Given the description of an element on the screen output the (x, y) to click on. 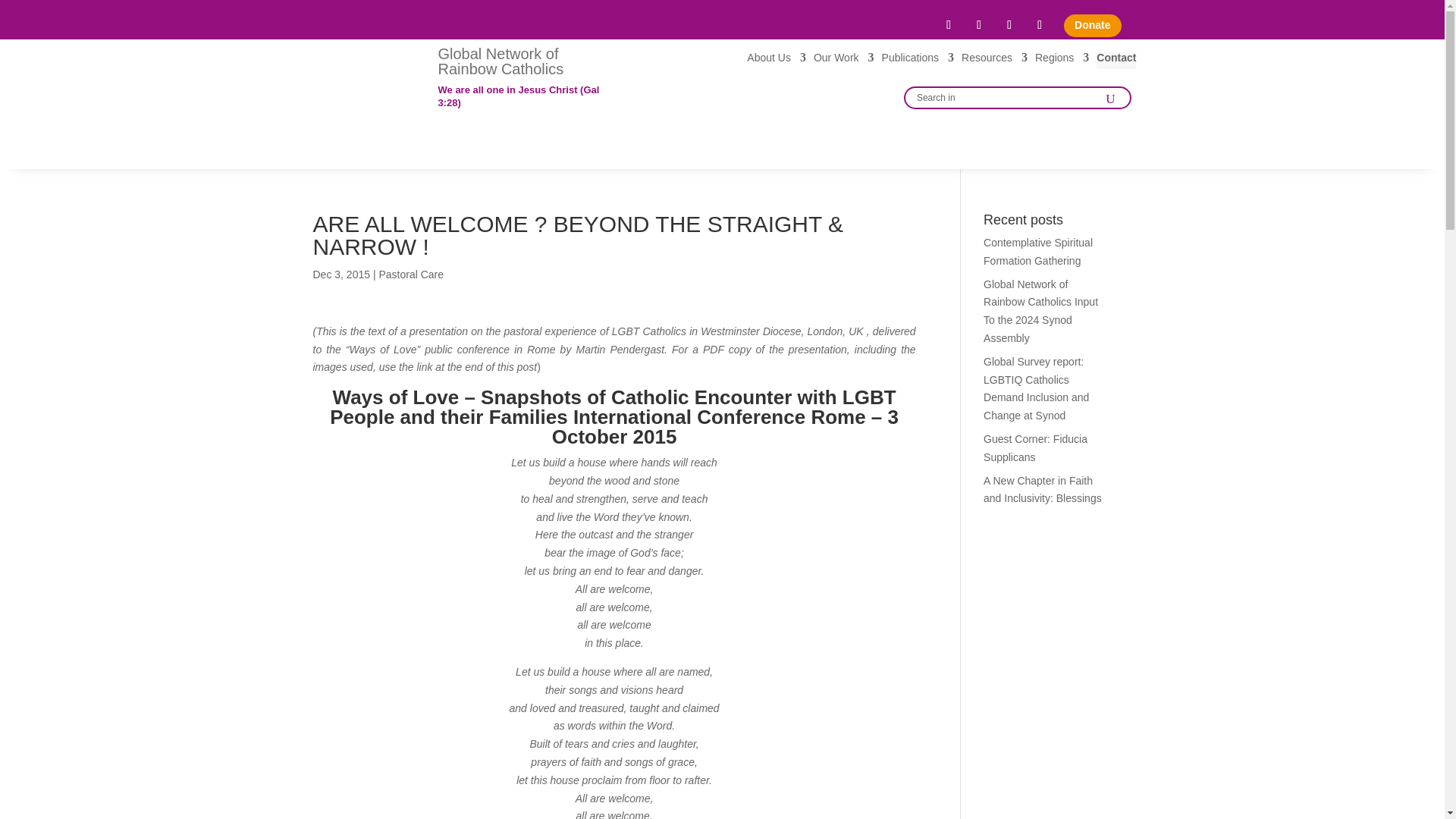
About Us (776, 60)
Contact (1115, 60)
Publications (918, 60)
Follow on Facebook (948, 24)
Regions (1062, 60)
Follow on Instagram (1039, 24)
Pastoral Care (411, 274)
Donate (1092, 25)
Follow on Youtube (1009, 24)
Resources (993, 60)
Follow on X (978, 24)
Search (1108, 97)
Global Network of Rainbow Catholics (501, 60)
Search (1108, 97)
Our Work (844, 60)
